Given the description of an element on the screen output the (x, y) to click on. 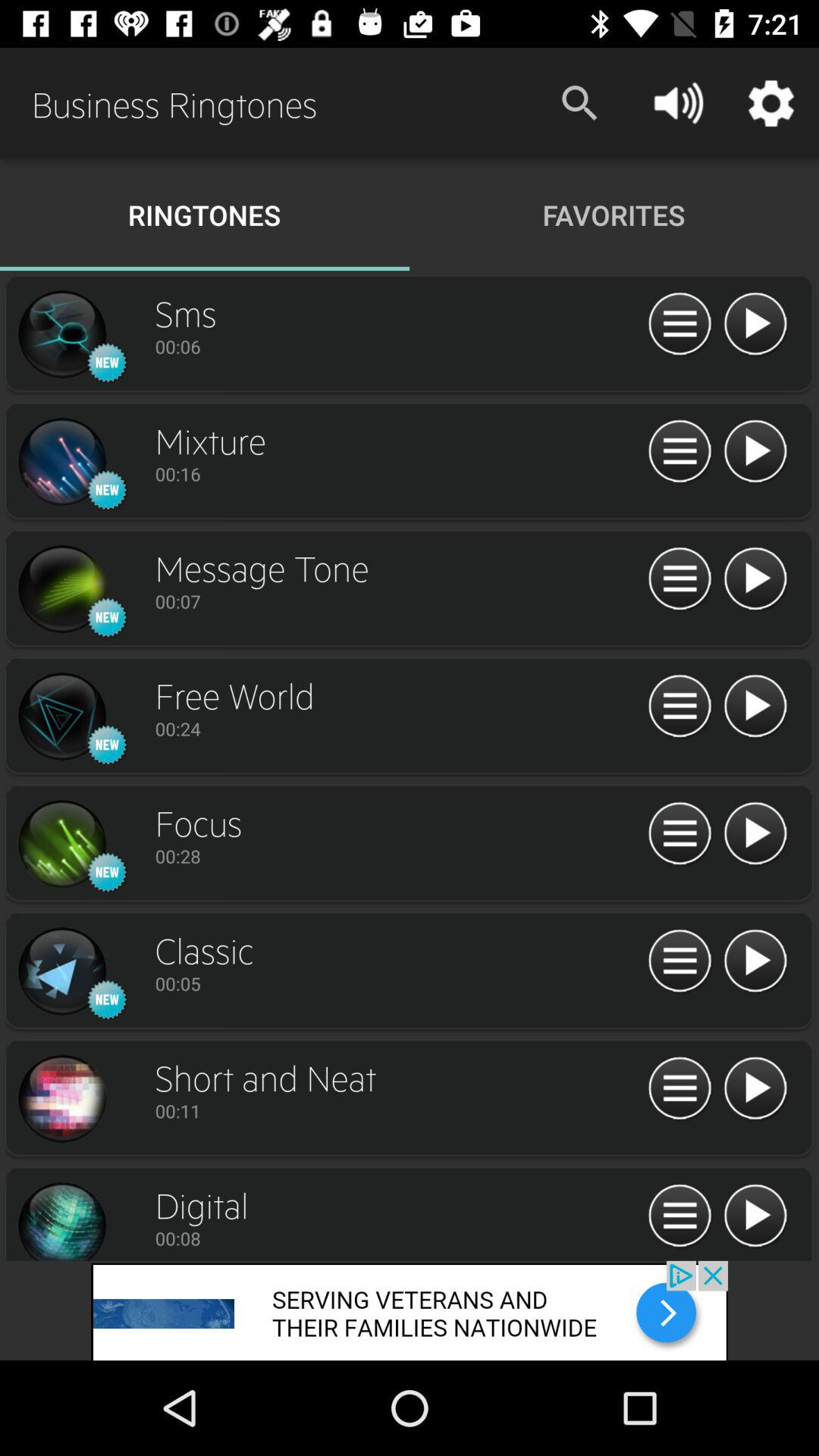
go to play (755, 1088)
